Given the description of an element on the screen output the (x, y) to click on. 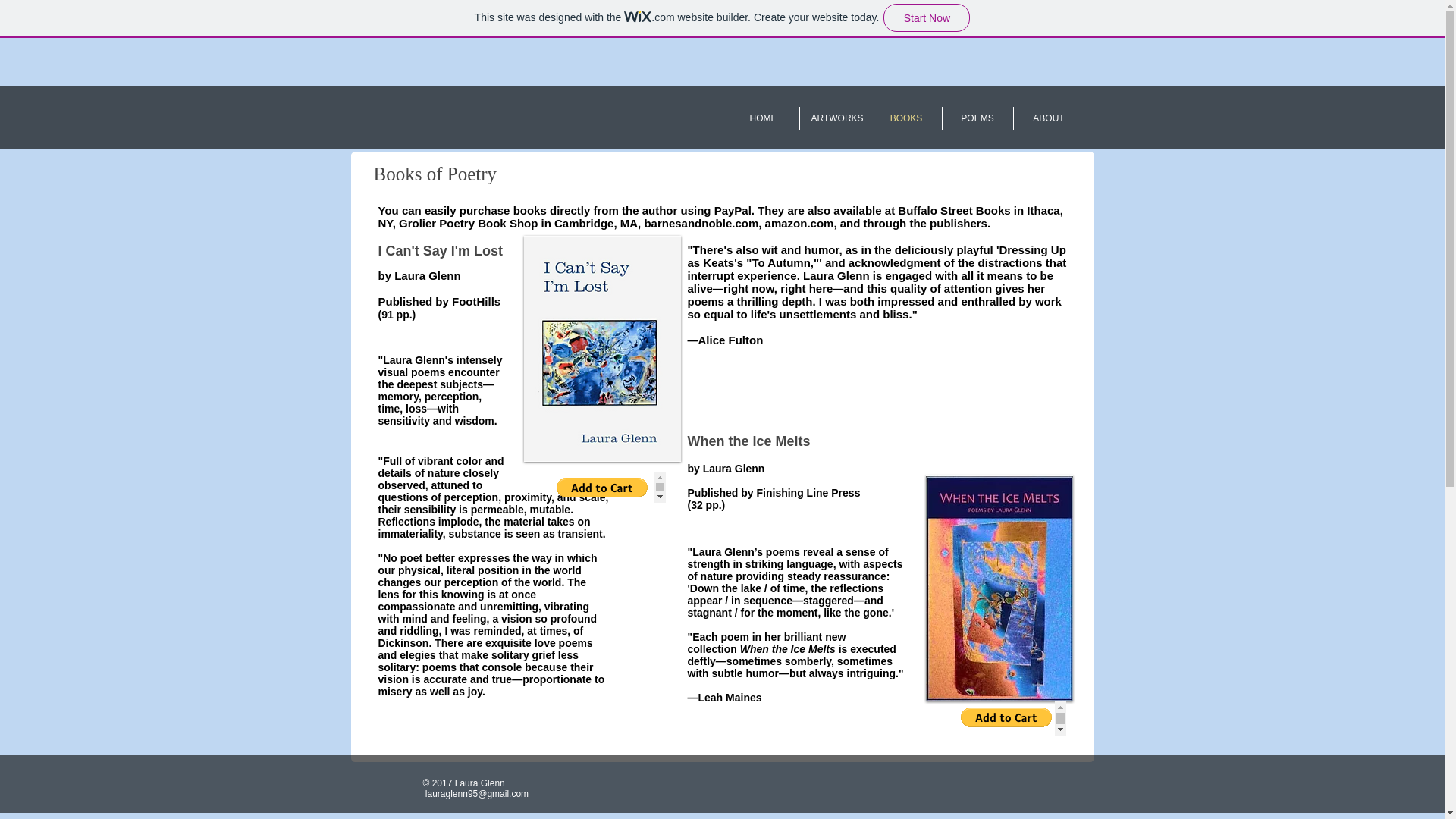
BOOKS (905, 118)
HOME (763, 118)
ABOUT (1048, 118)
ARTWORKS (834, 118)
POEMS (976, 118)
Embedded Content (1009, 717)
Embedded Content (607, 486)
